Given the description of an element on the screen output the (x, y) to click on. 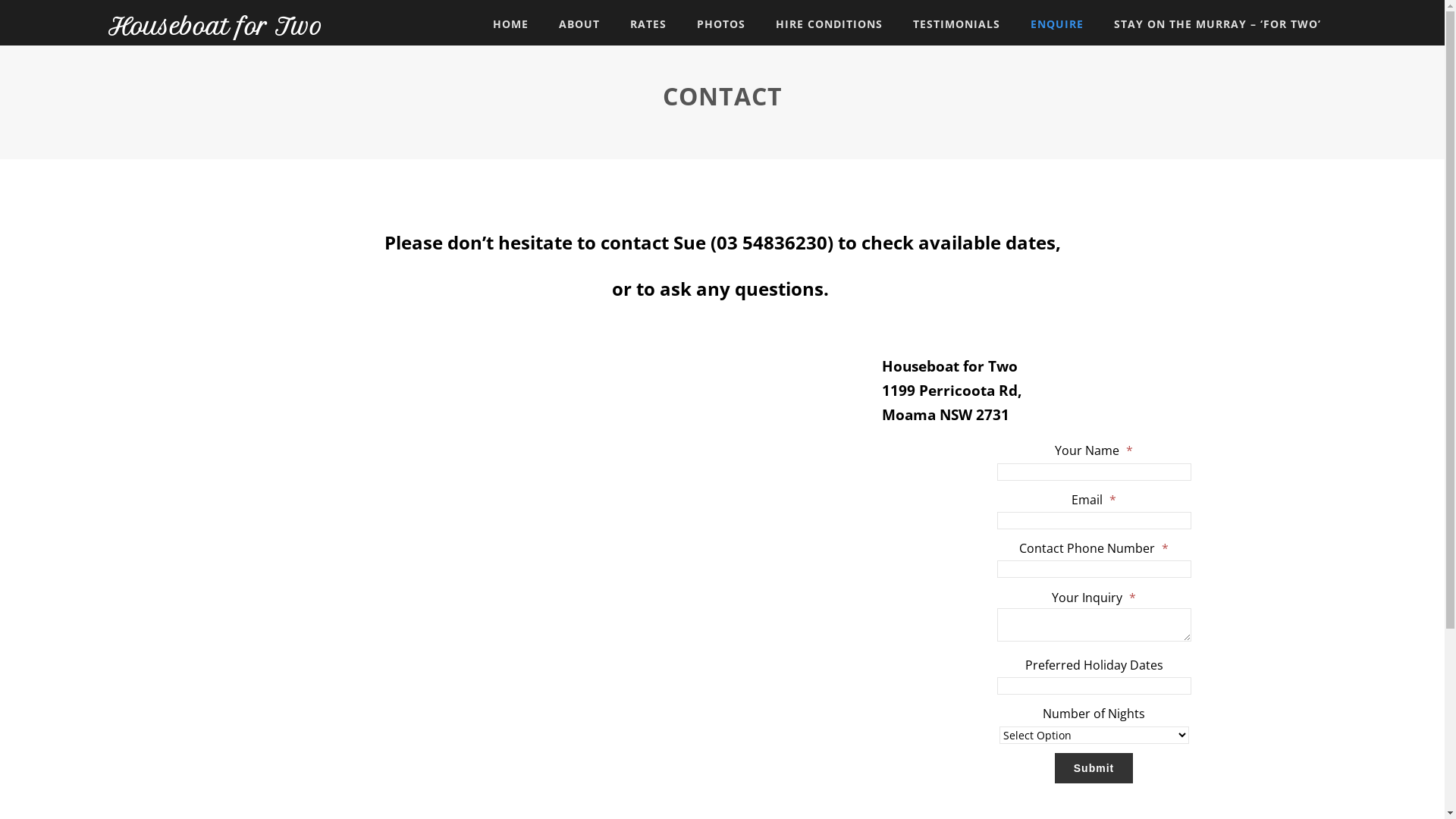
Submit Element type: text (1093, 768)
HOME Element type: text (510, 23)
TESTIMONIALS Element type: text (956, 23)
ABOUT Element type: text (579, 23)
Houseboat for Two Element type: text (215, 26)
PHOTOS Element type: text (720, 23)
HIRE CONDITIONS Element type: text (828, 23)
RATES Element type: text (648, 23)
ENQUIRE Element type: text (1056, 23)
